Given the description of an element on the screen output the (x, y) to click on. 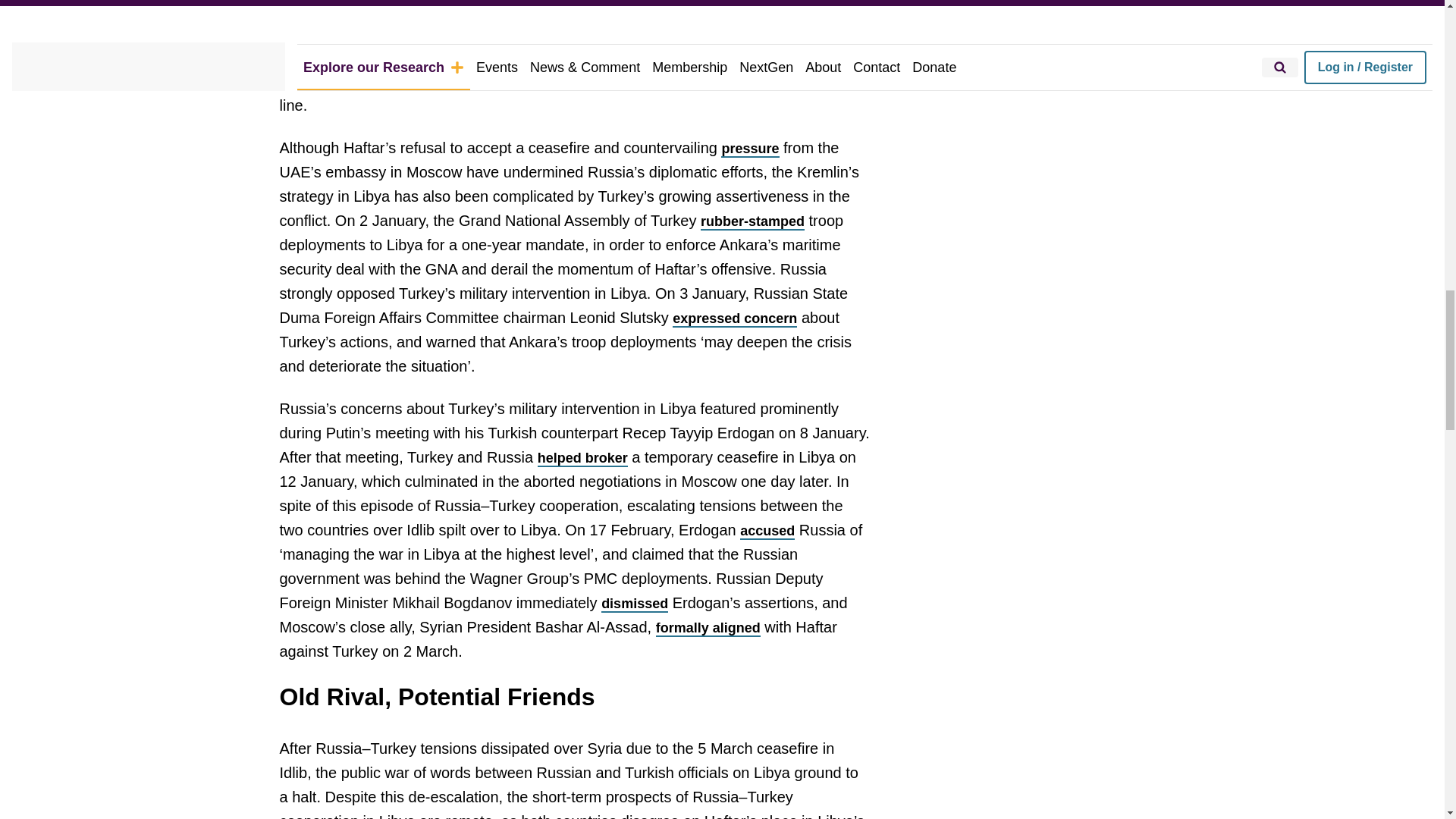
pressure (749, 149)
secure (765, 57)
rubber-stamped (752, 221)
expressed concern (734, 319)
appease (459, 33)
